Given the description of an element on the screen output the (x, y) to click on. 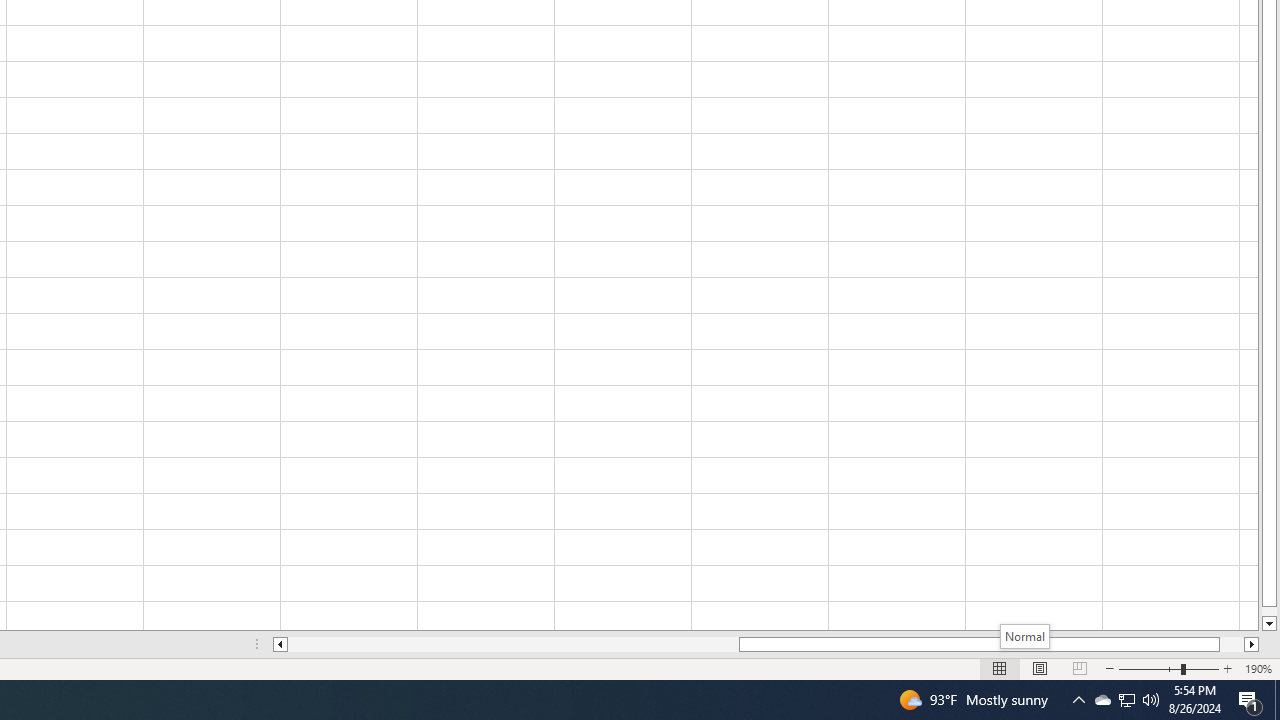
Page left (513, 644)
